Given the description of an element on the screen output the (x, y) to click on. 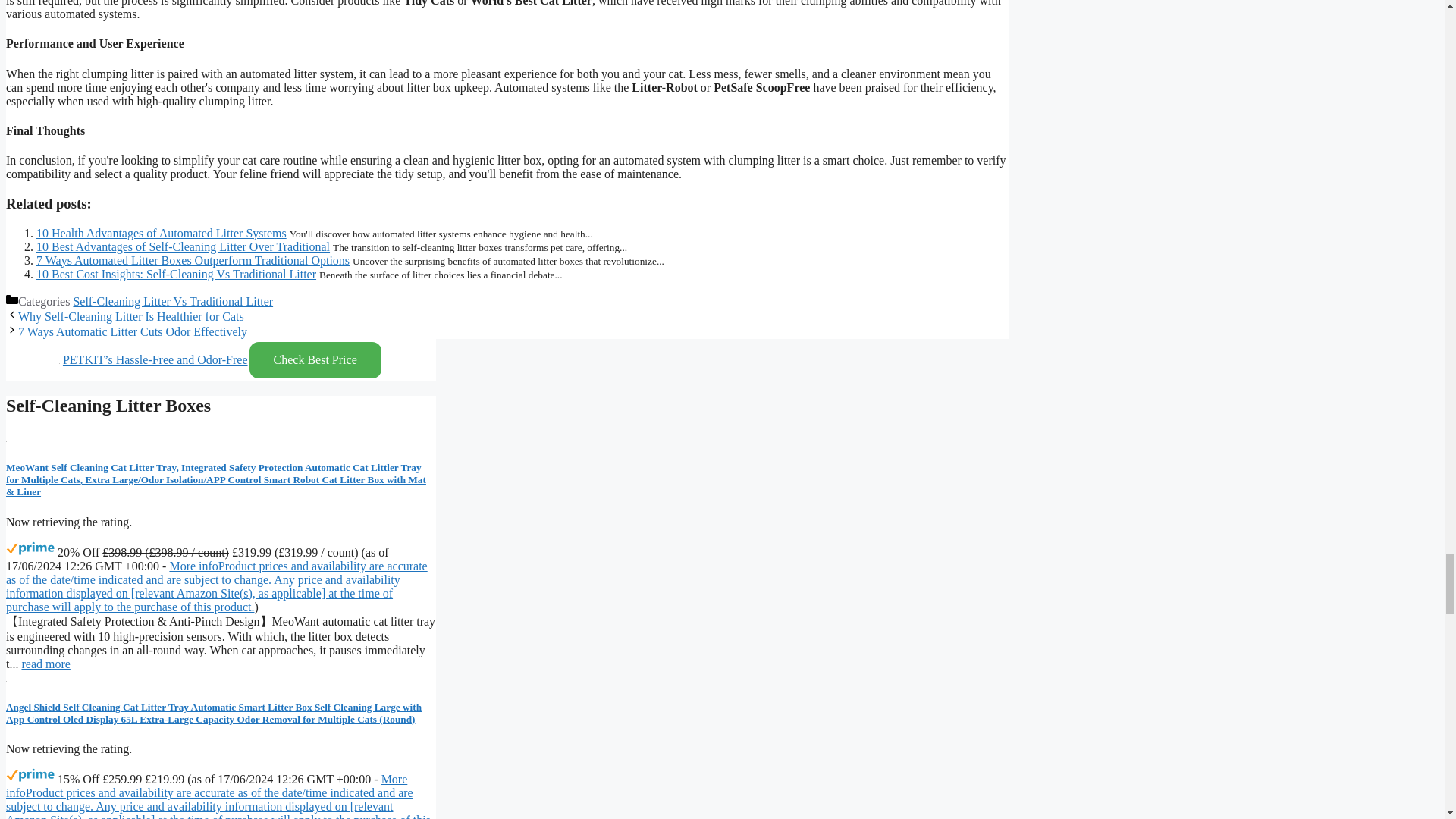
10 Best Cost Insights: Self-Cleaning Vs Traditional Litter (175, 273)
7 Ways Automated Litter Boxes Outperform Traditional Options (192, 259)
10 Best Advantages of Self-Cleaning Litter Over Traditional (183, 245)
10 Health Advantages of Automated Litter Systems (161, 232)
Available for Amazon Prime (30, 775)
Available for Amazon Prime (30, 548)
